Given the description of an element on the screen output the (x, y) to click on. 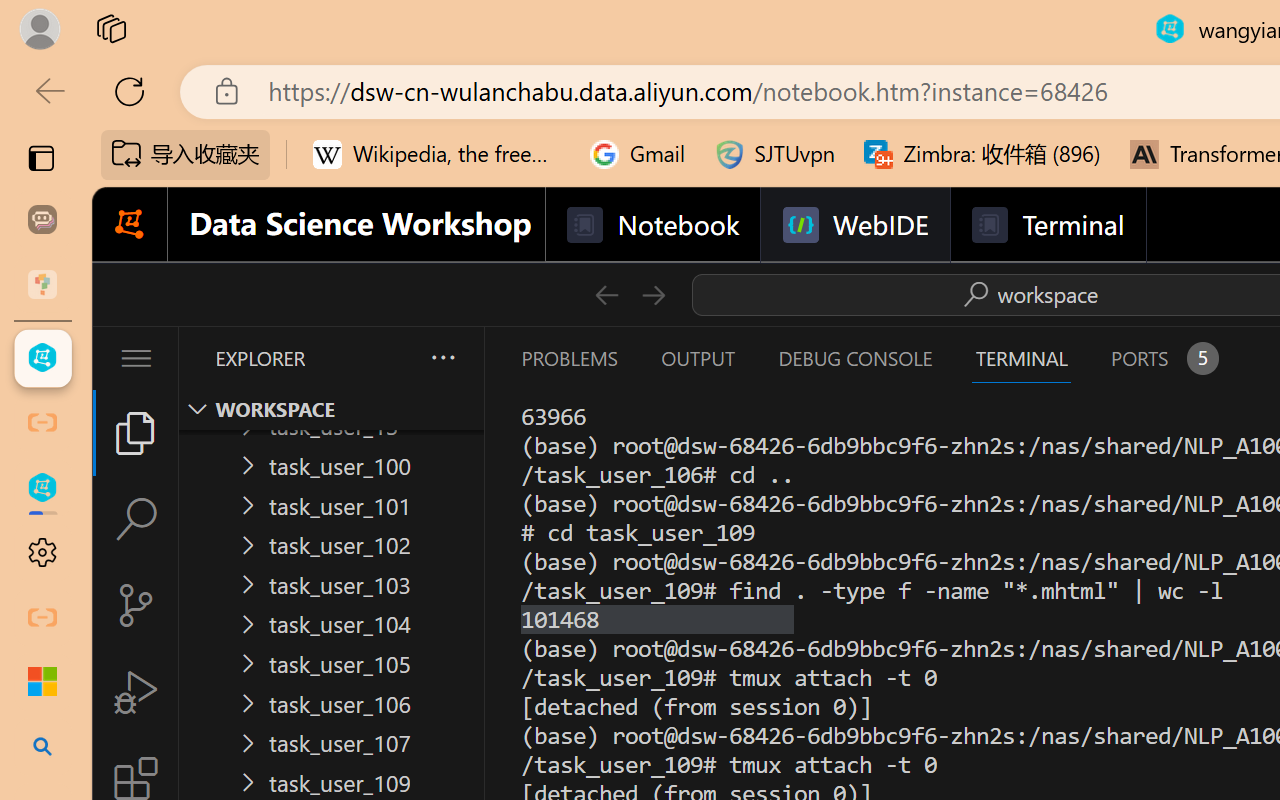
Output (Ctrl+Shift+U) (696, 358)
Debug Console (Ctrl+Shift+Y) (854, 358)
Notebook (652, 225)
WebIDE (854, 225)
Ports - 5 forwarded ports (1162, 358)
Search (Ctrl+Shift+F) (135, 519)
Application Menu (135, 358)
Gmail (637, 154)
Explorer actions (390, 358)
wangyian_dsw - DSW (42, 357)
Microsoft security help and learning (42, 681)
Problems (Ctrl+Shift+M) (567, 358)
